Given the description of an element on the screen output the (x, y) to click on. 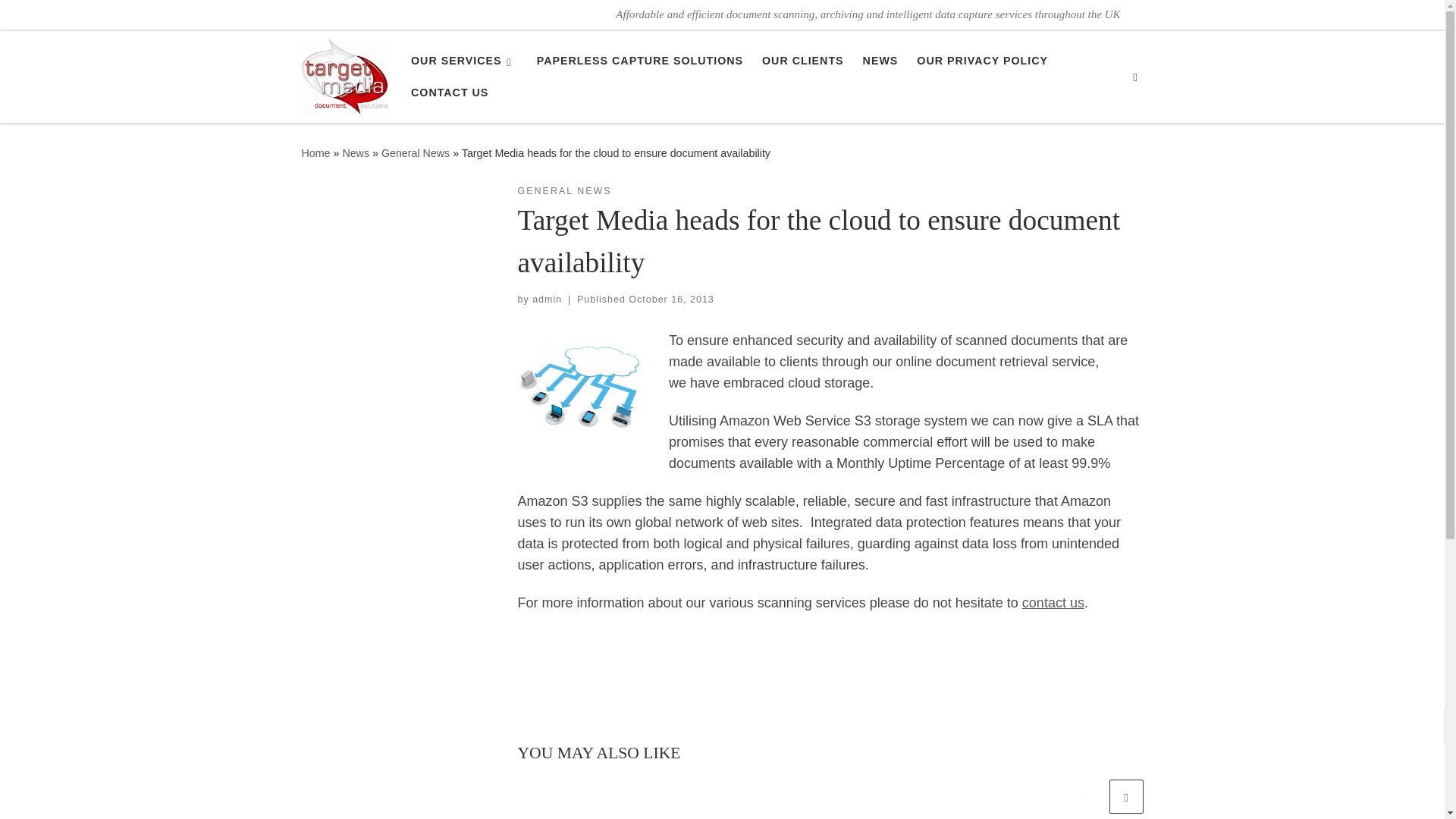
View all posts by admin (547, 299)
10:42 am (670, 299)
Previous related articles (1088, 796)
OUR SERVICES (464, 60)
Skip to content (60, 20)
Cloud Storage Ensures Document Integrity (580, 382)
General News (415, 152)
OUR PRIVACY POLICY (982, 60)
News (355, 152)
PAPERLESS CAPTURE SOLUTIONS (640, 60)
NEWS (879, 60)
OUR CLIENTS (802, 60)
Contact Us (1053, 602)
Target Media Document Solutions (315, 152)
CONTACT US (449, 92)
